Given the description of an element on the screen output the (x, y) to click on. 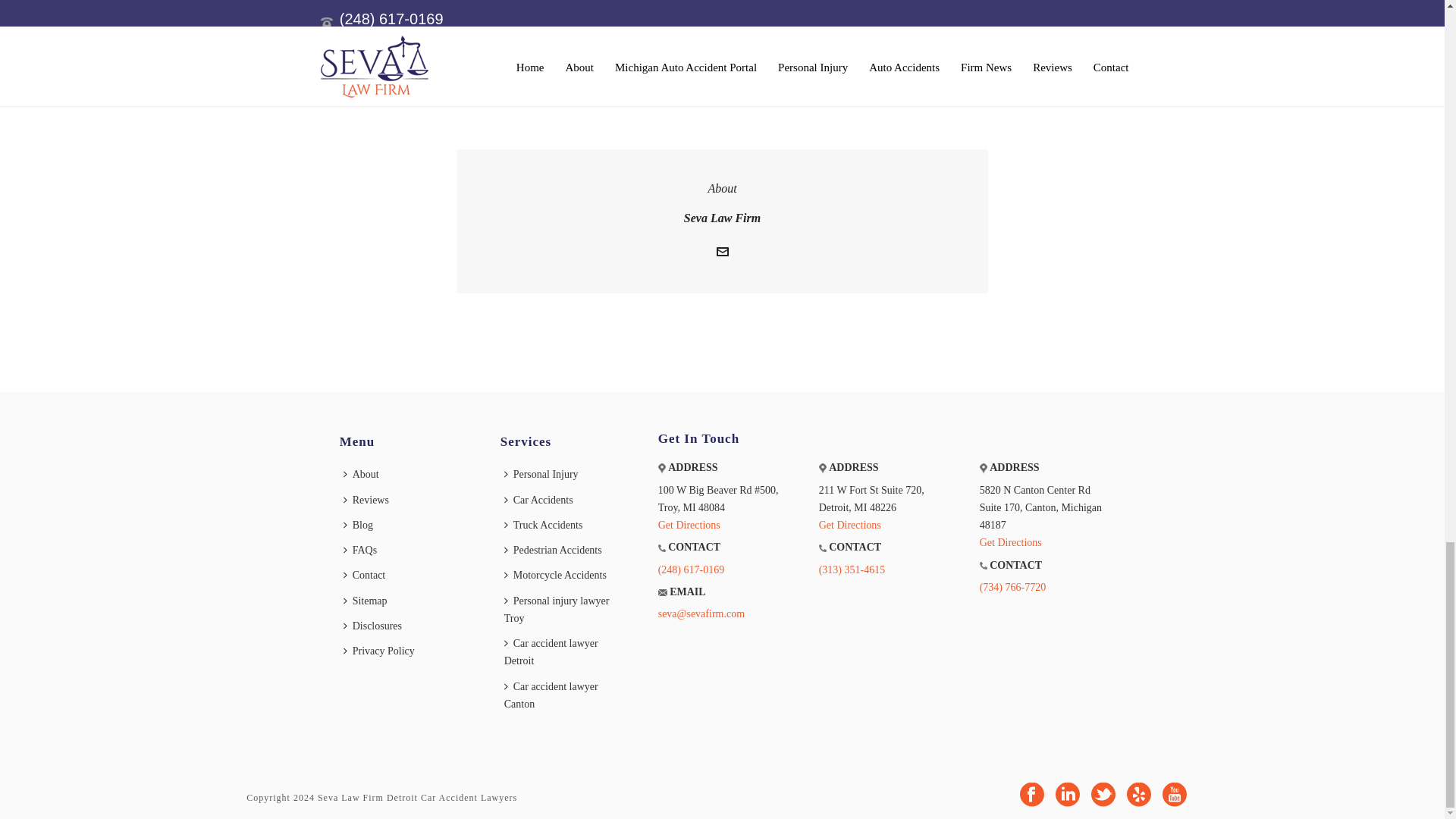
 linkedin (1067, 795)
 facebook (1031, 795)
 youtube (1173, 795)
 twitter (1102, 795)
 yelp (1138, 795)
Print (667, 43)
Get in touch with me via email (722, 254)
